Given the description of an element on the screen output the (x, y) to click on. 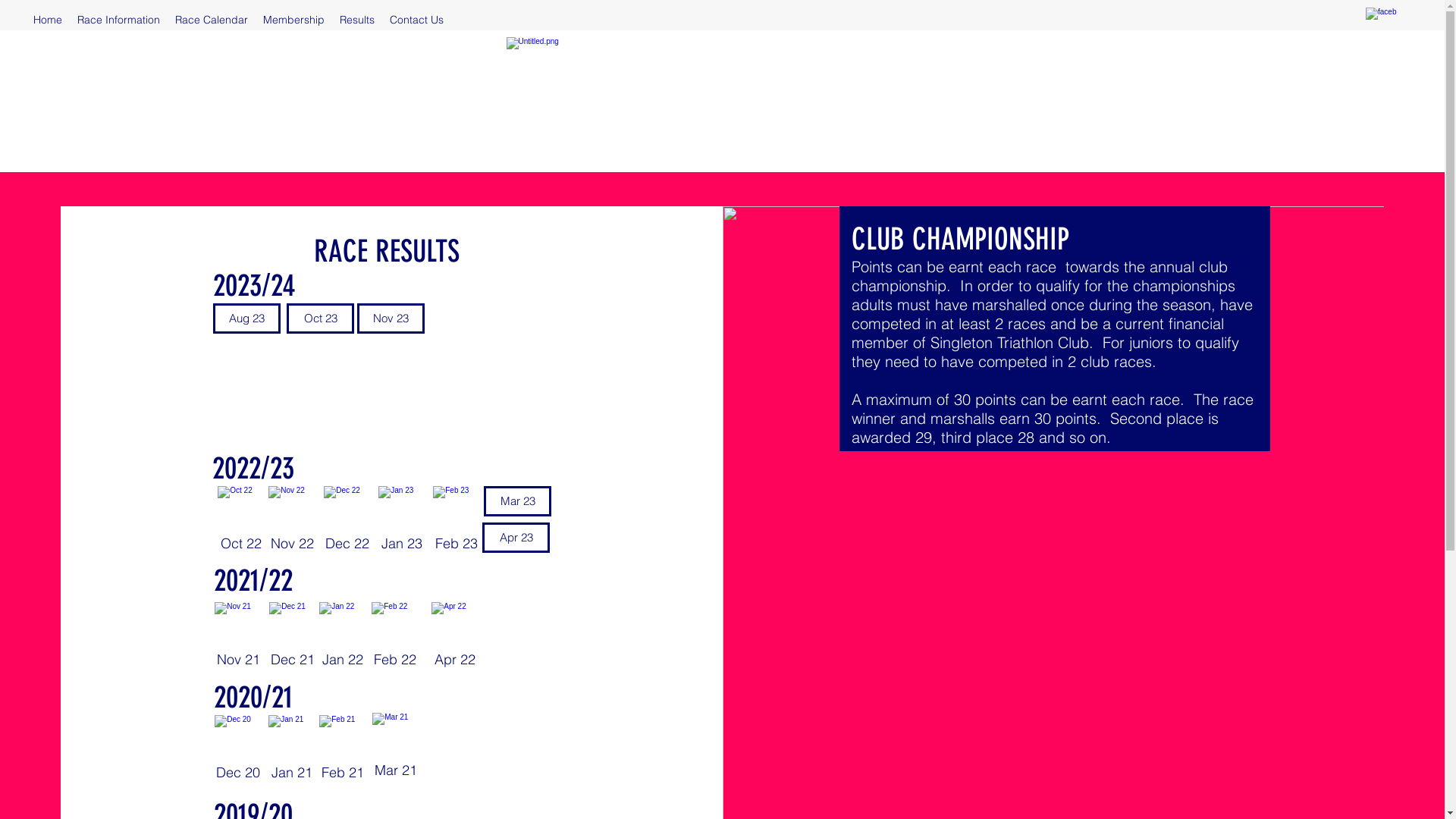
Nov 21 Element type: text (237, 638)
Jan 22 Element type: text (342, 638)
Race Calendar Element type: text (211, 19)
Mar 23 Element type: text (517, 501)
Apr 22 Element type: text (454, 638)
Nov 23 Element type: text (390, 318)
Results Element type: text (357, 19)
Oct 23 Element type: text (320, 318)
Nov 22 Element type: text (291, 522)
Mar 21 Element type: text (395, 748)
Jan 23 Element type: text (401, 522)
Aug 23 Element type: text (246, 318)
Apr 23 Element type: text (515, 537)
Dec 20 Element type: text (237, 751)
Feb 23 Element type: text (456, 522)
Race Information Element type: text (118, 19)
Jan 21 Element type: text (291, 751)
Feb 22 Element type: text (394, 638)
Dec 22 Element type: text (347, 522)
Contact Us Element type: text (416, 19)
Dec 21 Element type: text (292, 638)
Feb 21 Element type: text (342, 751)
Membership Element type: text (293, 19)
Home Element type: text (47, 19)
Oct 22 Element type: text (240, 522)
